Given the description of an element on the screen output the (x, y) to click on. 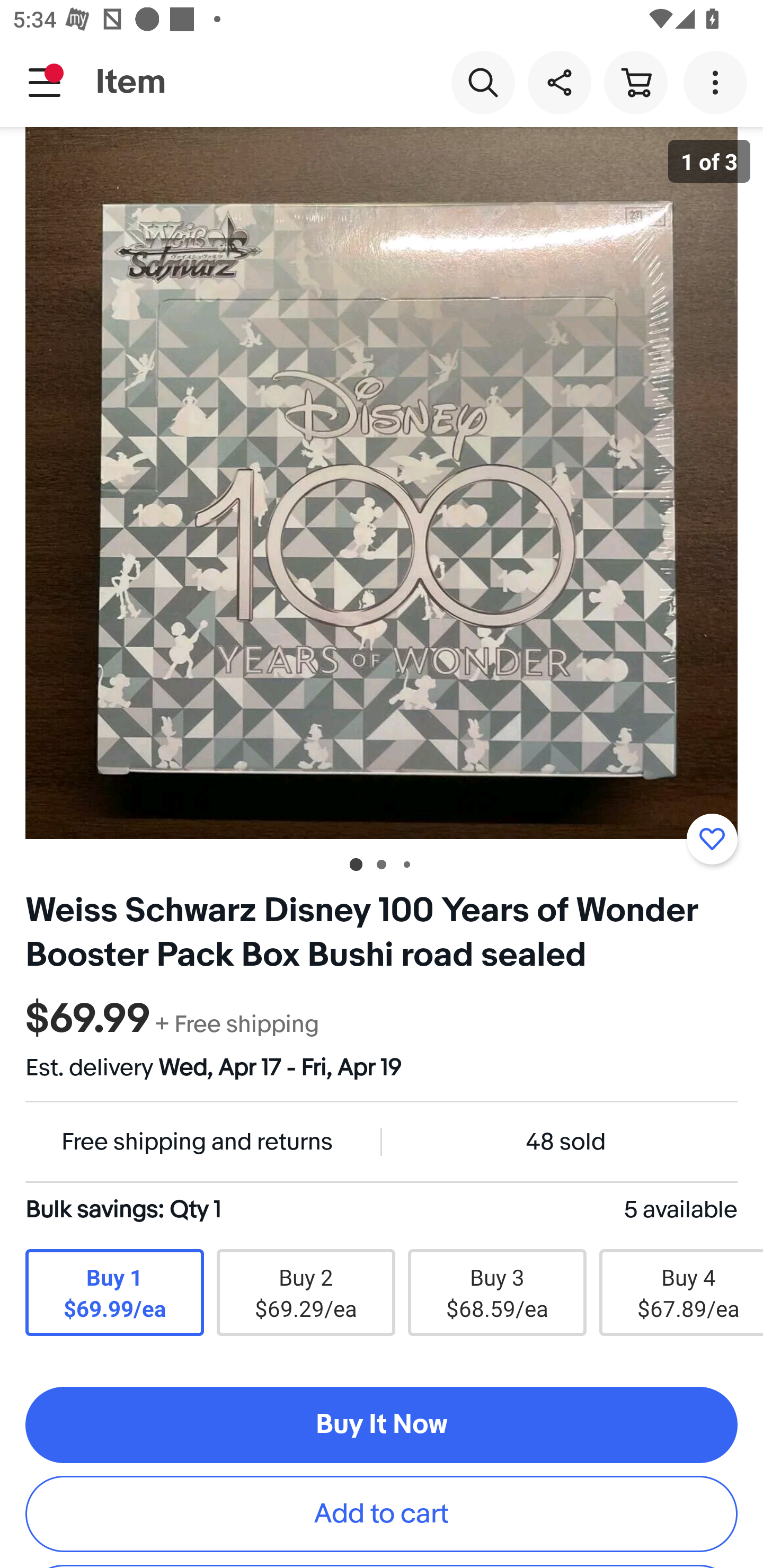
Main navigation, notification is pending, open (44, 82)
Search (482, 81)
Share this item (559, 81)
Cart button shopping cart (635, 81)
More options (718, 81)
Item image 1 of 3 (381, 482)
Add to watchlist (711, 838)
Buy 1
$69.99/ea (114, 1292)
Buy 2
$69.29/ea (305, 1292)
Buy 3
$68.59/ea (497, 1292)
Buy 4
$67.89/ea (680, 1292)
Buy It Now (381, 1424)
Add to cart (381, 1513)
